Given the description of an element on the screen output the (x, y) to click on. 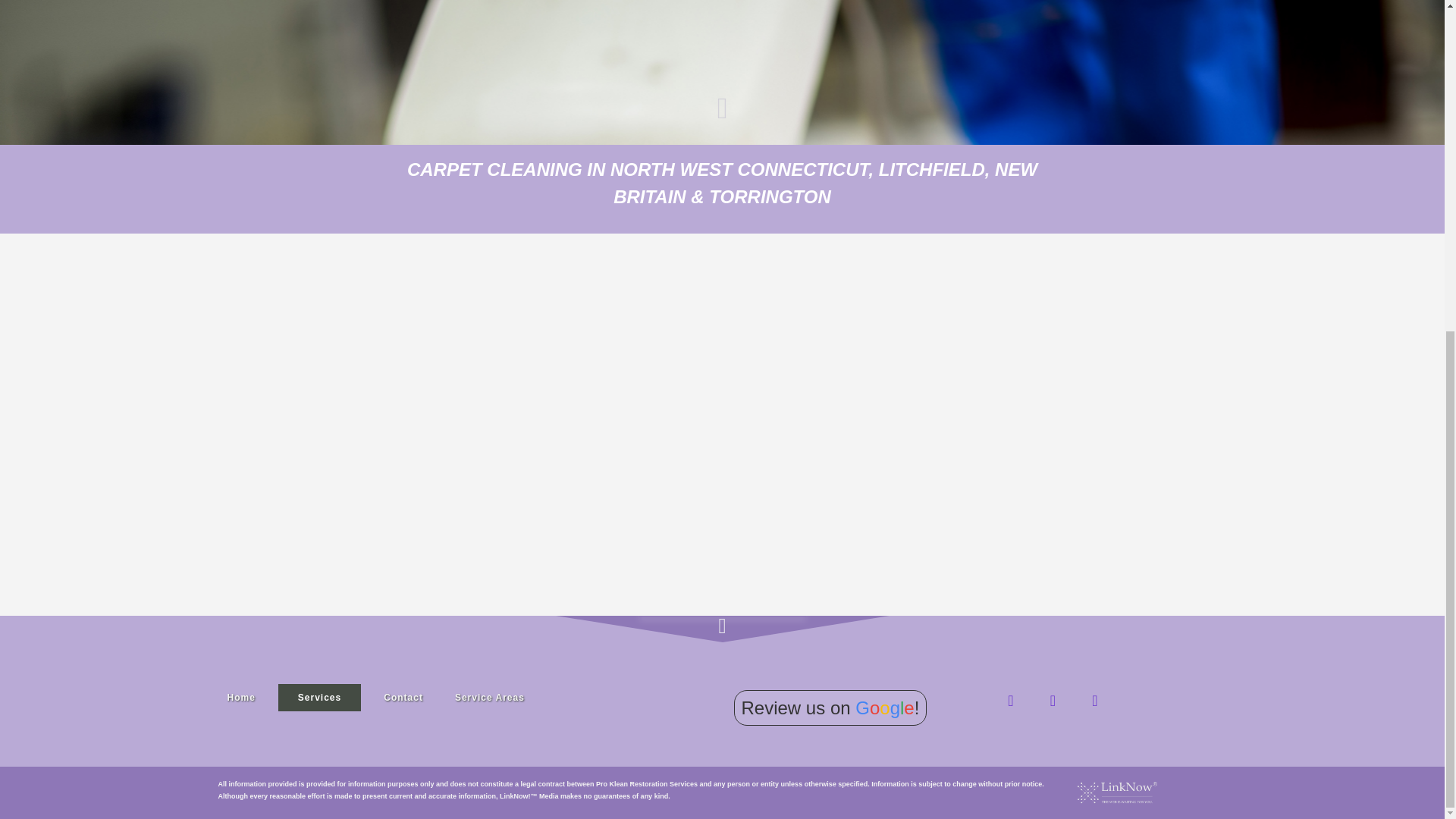
Contact (403, 697)
Home (241, 697)
Services (319, 697)
1 (1371, 49)
Review us on Google! (830, 707)
Service Areas (489, 697)
